Given the description of an element on the screen output the (x, y) to click on. 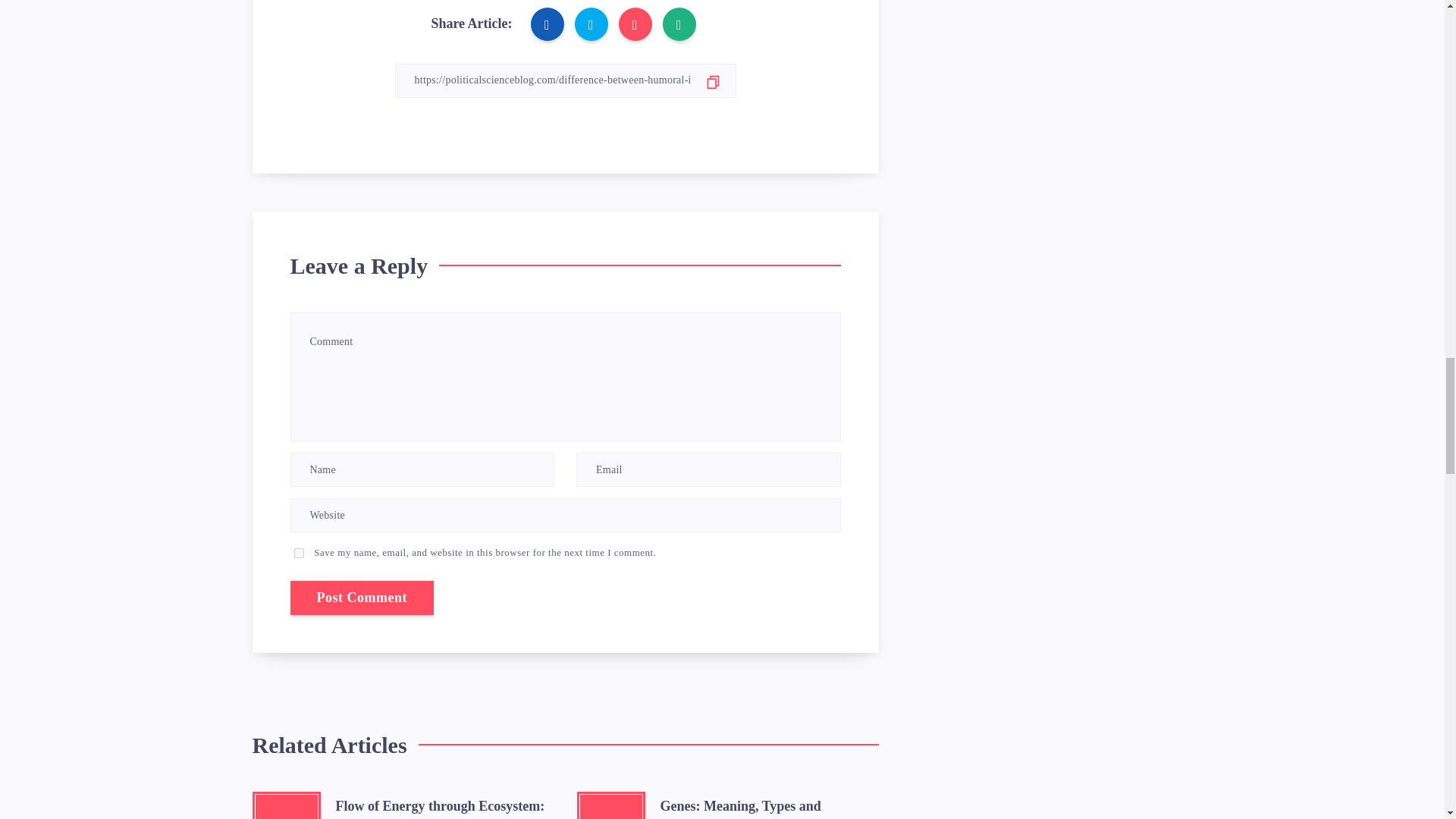
yes (299, 552)
Post Comment (360, 597)
